Given the description of an element on the screen output the (x, y) to click on. 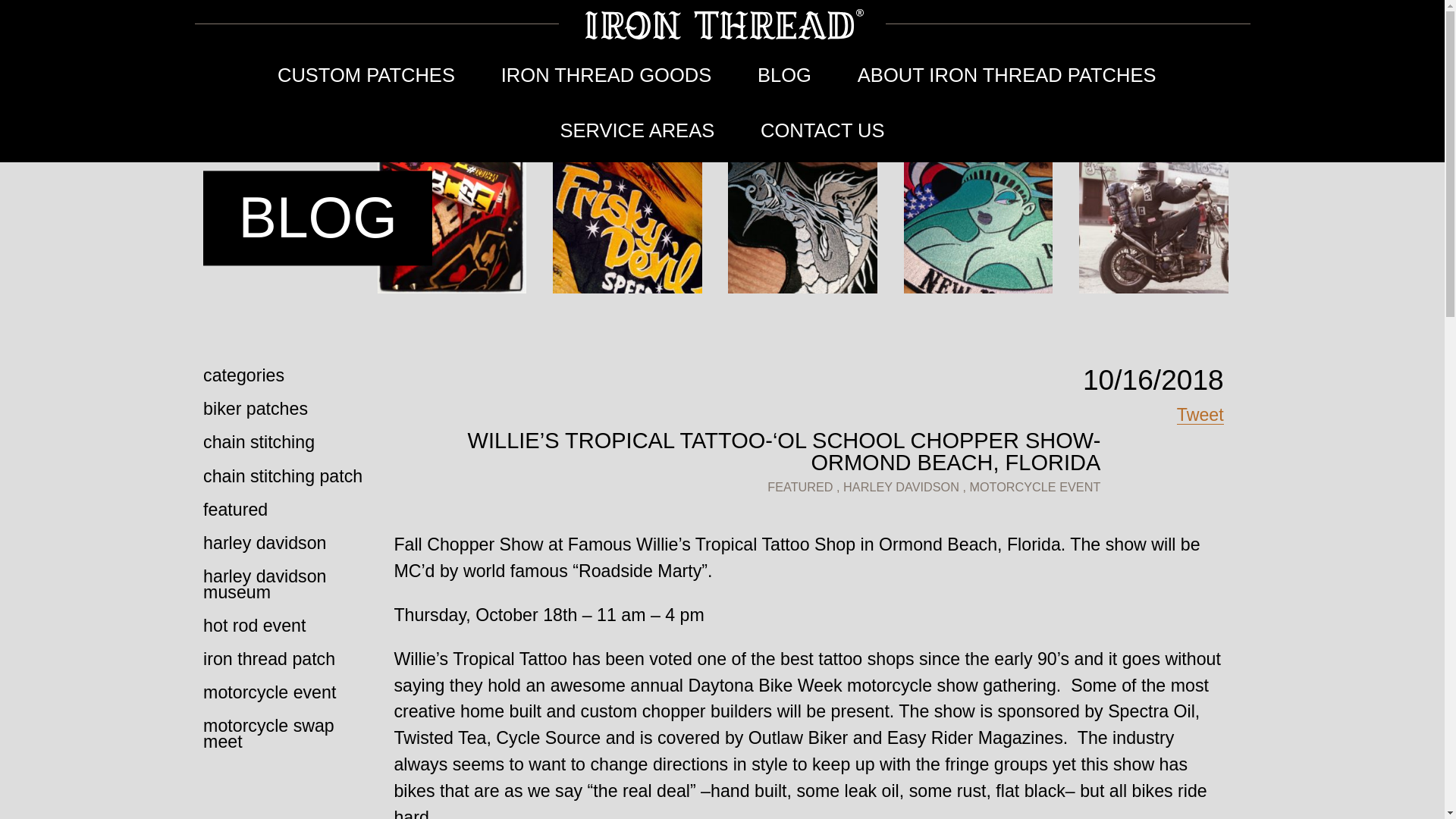
hot rod event (289, 625)
Logo (722, 24)
IRON THREAD GOODS (606, 79)
motorcycle swap meet (289, 733)
chain stitching patch (289, 476)
biker patches (289, 409)
harley davidson museum (289, 584)
chain stitching (289, 442)
Tweet (1200, 415)
categories (289, 376)
SERVICE AREAS (636, 134)
featured (289, 509)
harley davidson (289, 542)
ABOUT IRON THREAD PATCHES (1006, 79)
CONTACT US (822, 134)
